Given the description of an element on the screen output the (x, y) to click on. 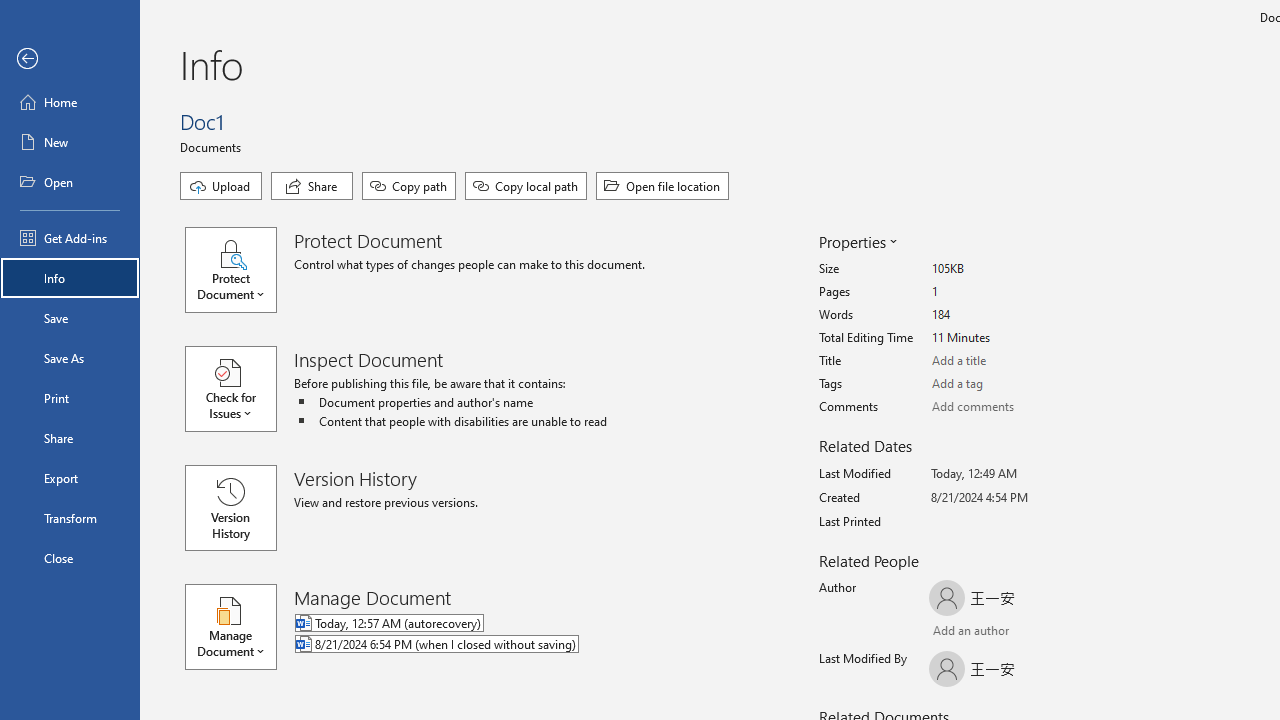
Upload (221, 186)
Properties (856, 241)
Get Add-ins (69, 237)
Manage Document (239, 626)
Copy path (408, 186)
Size (1006, 269)
 8/21/2024 6:54 PM (when I closed without saving) (518, 645)
New (69, 141)
